Given the description of an element on the screen output the (x, y) to click on. 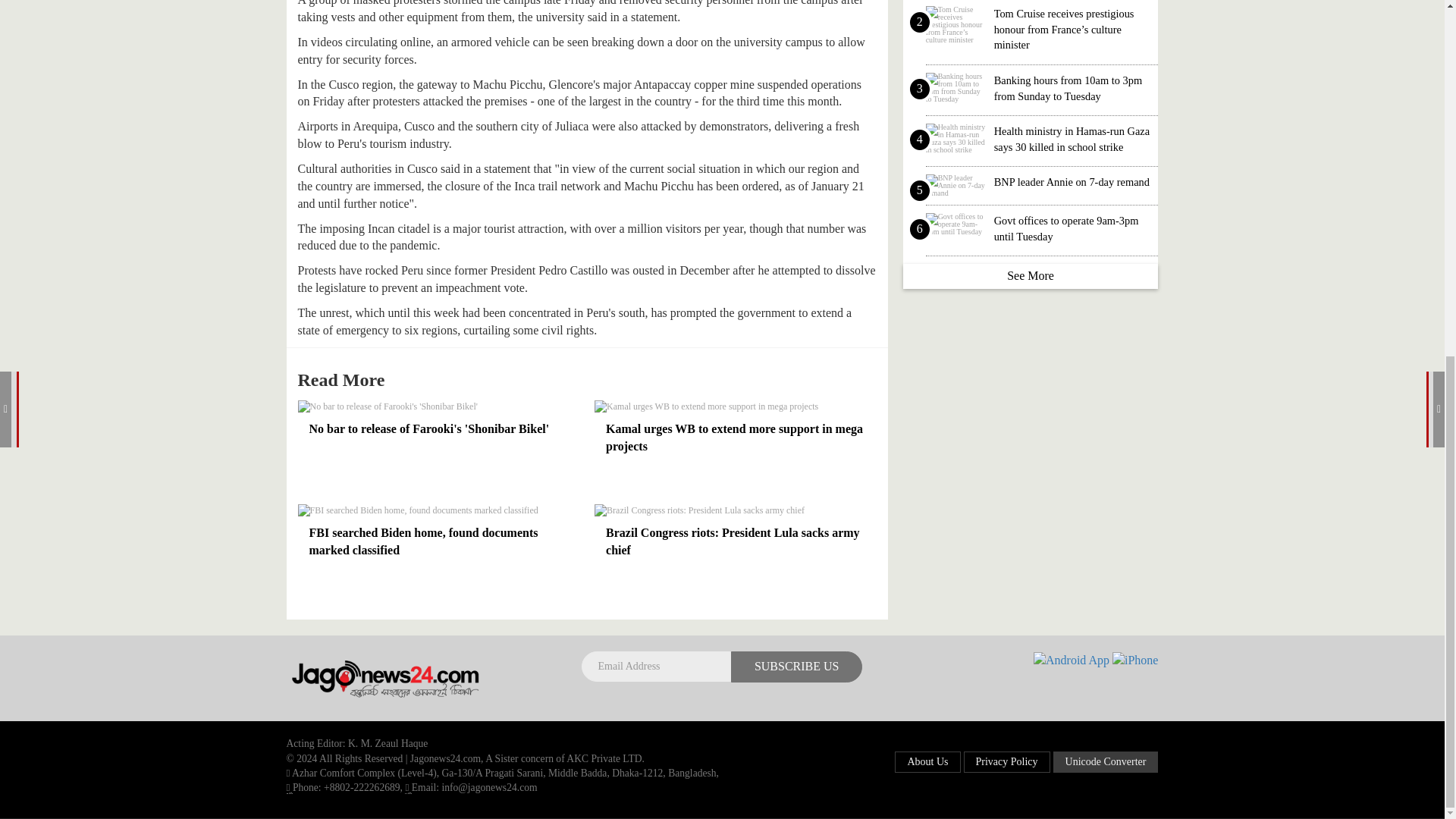
Brazil Congress riots: President Lula sacks army chief (734, 541)
Email: (407, 787)
Kamal urges WB to extend more support in mega projects (734, 437)
Brazil Congress riots: President Lula sacks army chief (734, 541)
No bar to release of Farooki's 'Shonibar Bikel' (438, 429)
FBI searched Biden home, found documents marked classified (438, 541)
FBI searched Biden home, found documents marked classified (438, 541)
Android (1071, 660)
Kamal urges WB to extend more support in mega projects (735, 406)
Kamal urges WB to extend more support in mega projects (734, 437)
No bar to release of Farooki's 'Shonibar Bikel' (438, 429)
No bar to release of Farooki's 'Shonibar Bikel' (438, 406)
iPhone (1134, 660)
Brazil Congress riots: President Lula sacks army chief (735, 510)
Phone: (289, 787)
